Given the description of an element on the screen output the (x, y) to click on. 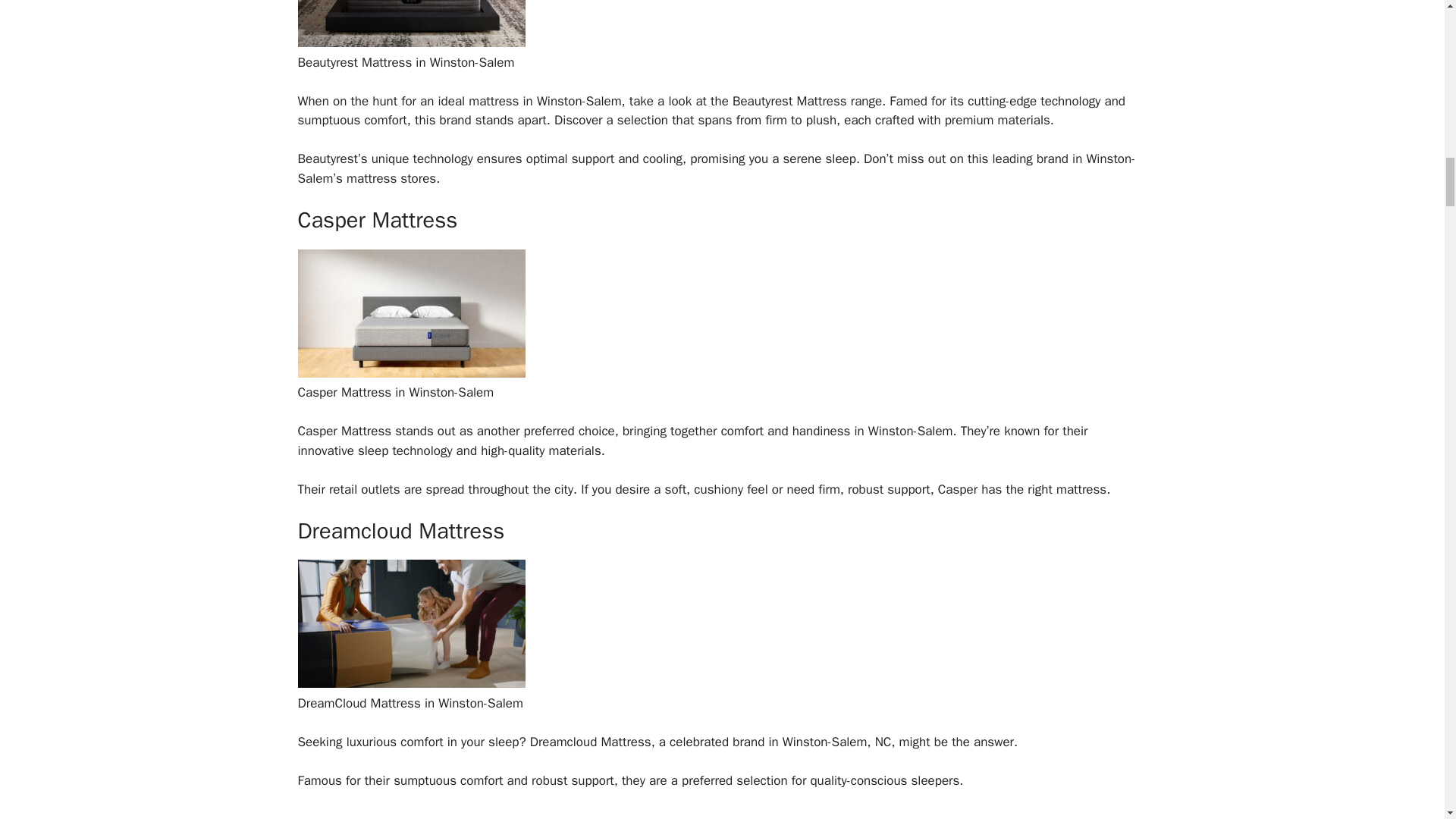
DreamCloud Mattress Near Me in Winston-Salem (410, 683)
Casper Mattress Winston-Salem (410, 373)
Beautyrest Mattress Winston-Salem (410, 42)
